Given the description of an element on the screen output the (x, y) to click on. 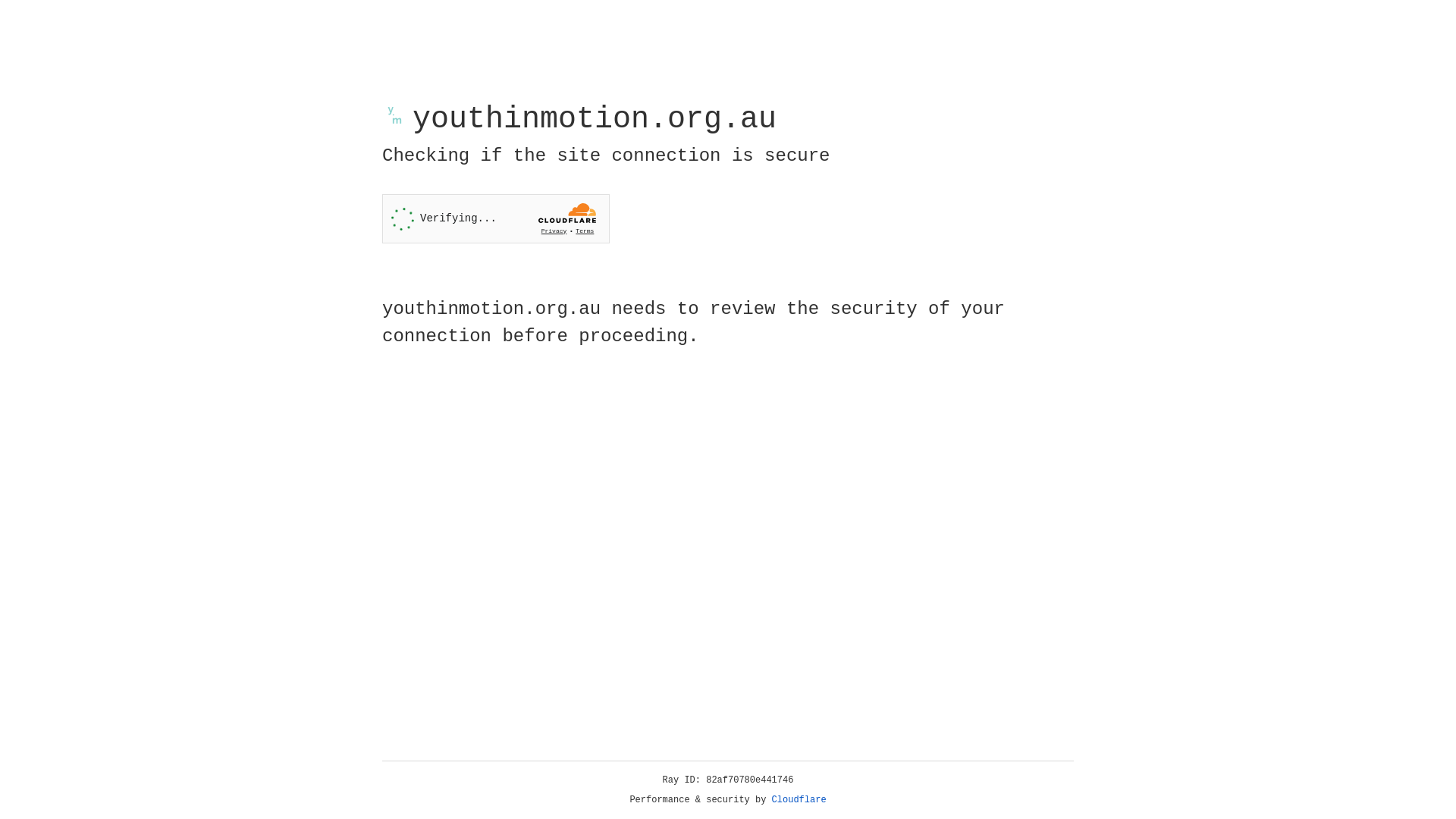
Cloudflare Element type: text (798, 799)
Widget containing a Cloudflare security challenge Element type: hover (495, 218)
